Given the description of an element on the screen output the (x, y) to click on. 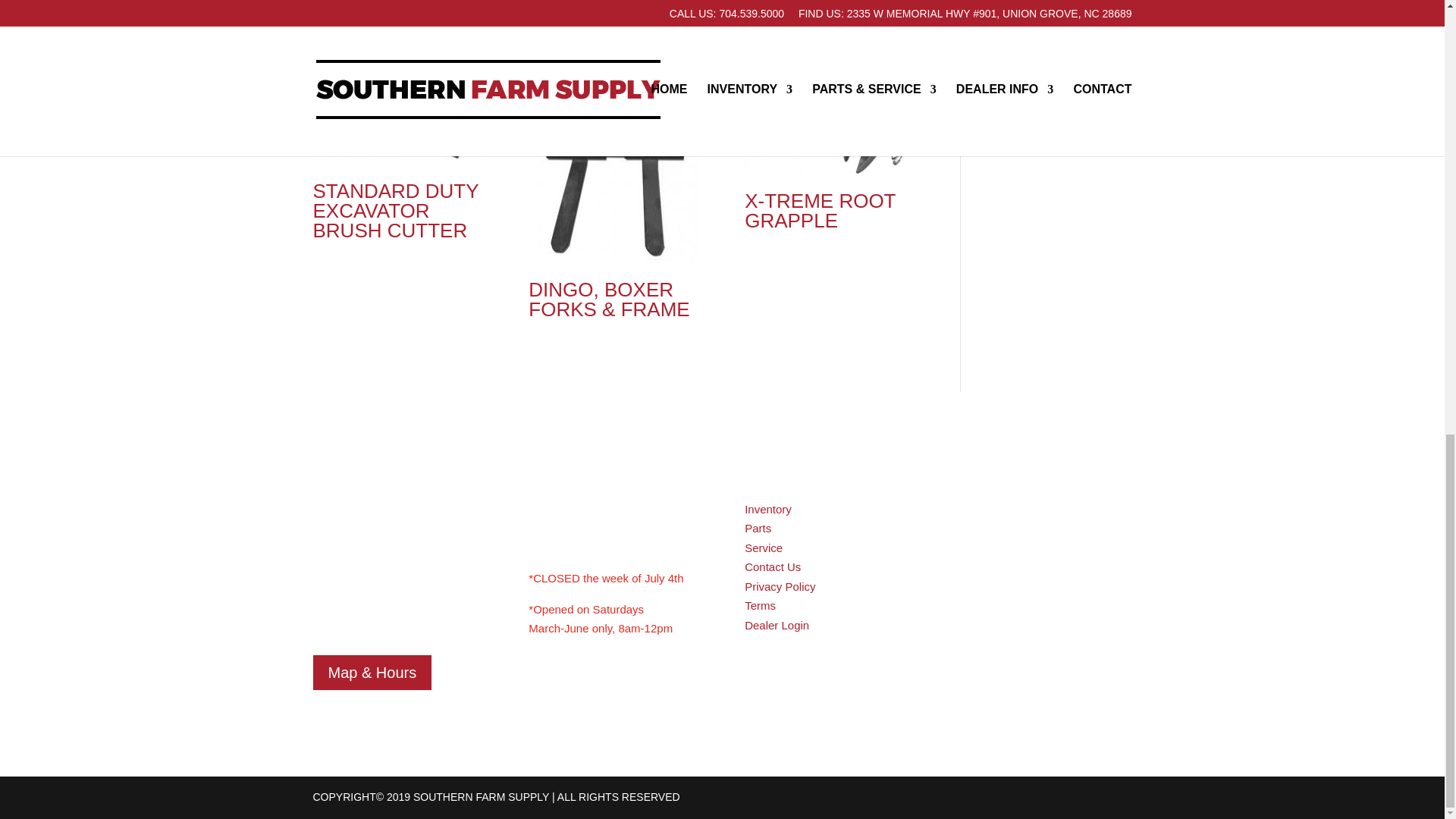
Follow on Facebook (972, 534)
Call Southern Farm Supply (368, 561)
North Carolina (390, 541)
Agricultural Equipment for sale in Union Grove, NC (768, 508)
Contact Southern Farm Supply in Union Grove, NC (772, 566)
Service in Union Grove, NC (763, 547)
Parts in Union Grove, NC (757, 527)
